Given the description of an element on the screen output the (x, y) to click on. 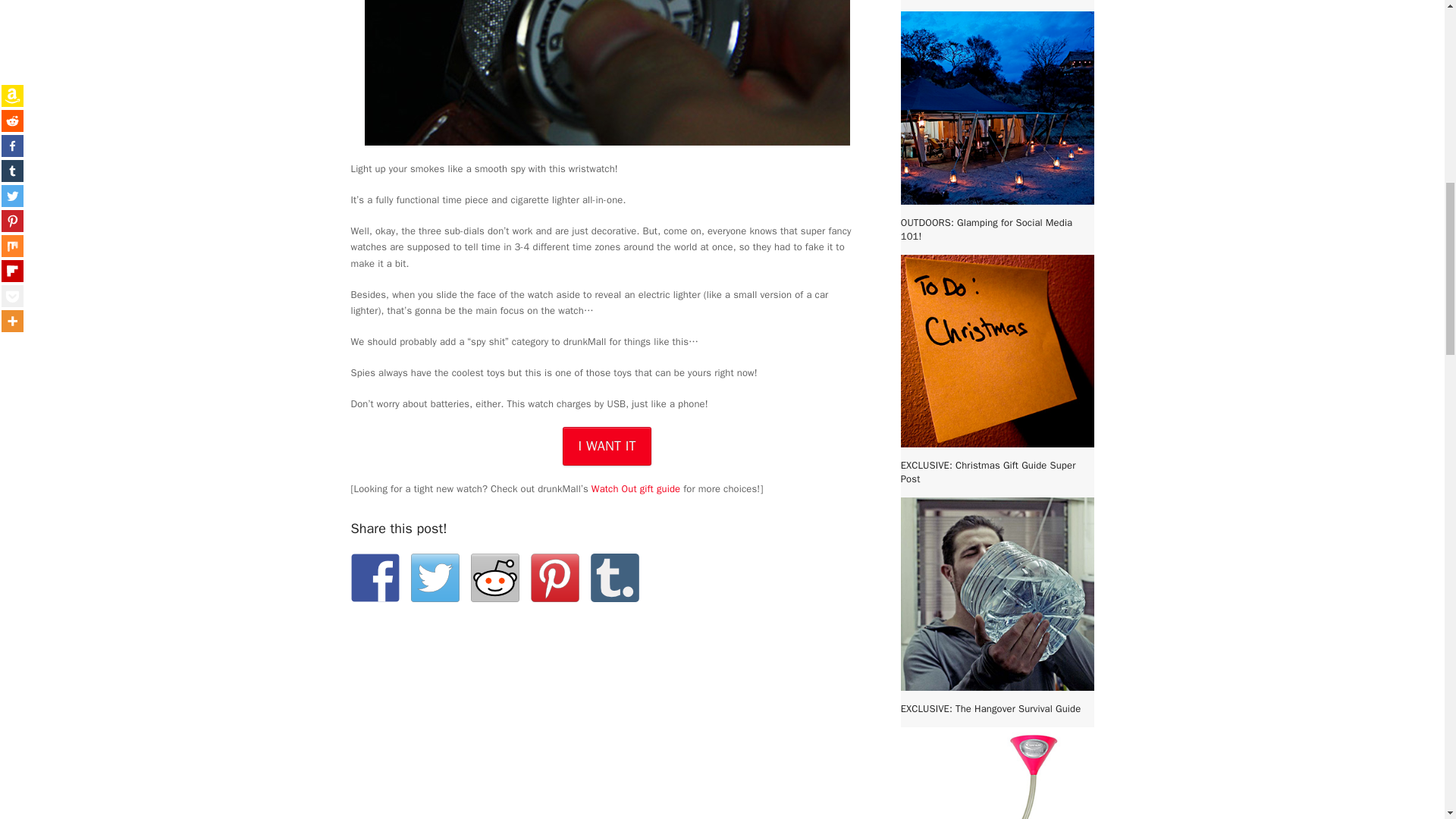
Submit! (494, 577)
Pin it! (555, 577)
Share! (374, 577)
Visit Site (606, 446)
Blog about it! (614, 577)
Tweet! (435, 577)
